Given the description of an element on the screen output the (x, y) to click on. 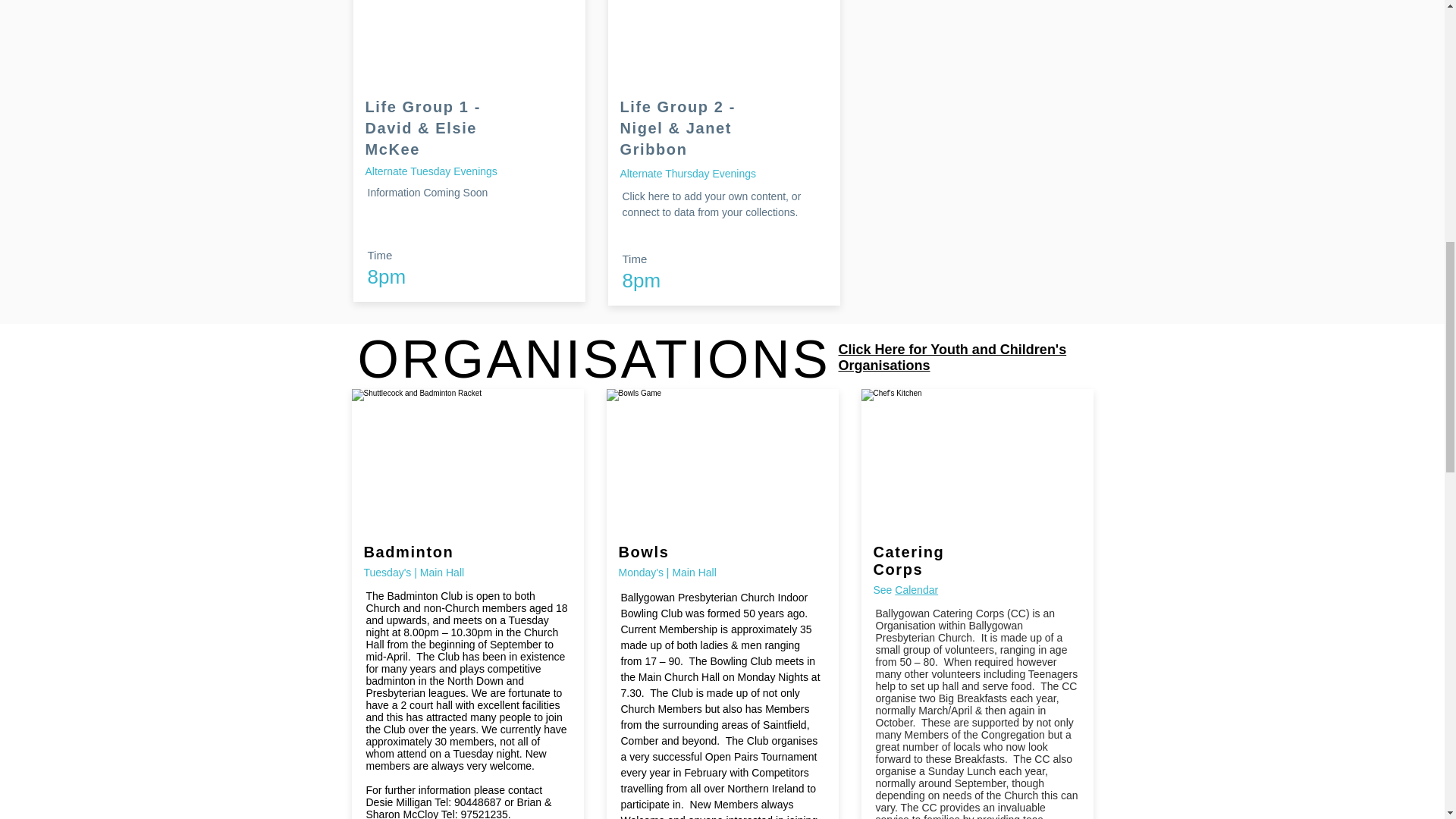
Click Here for Youth and Children's Organisations (952, 356)
Calendar (916, 589)
